Given the description of an element on the screen output the (x, y) to click on. 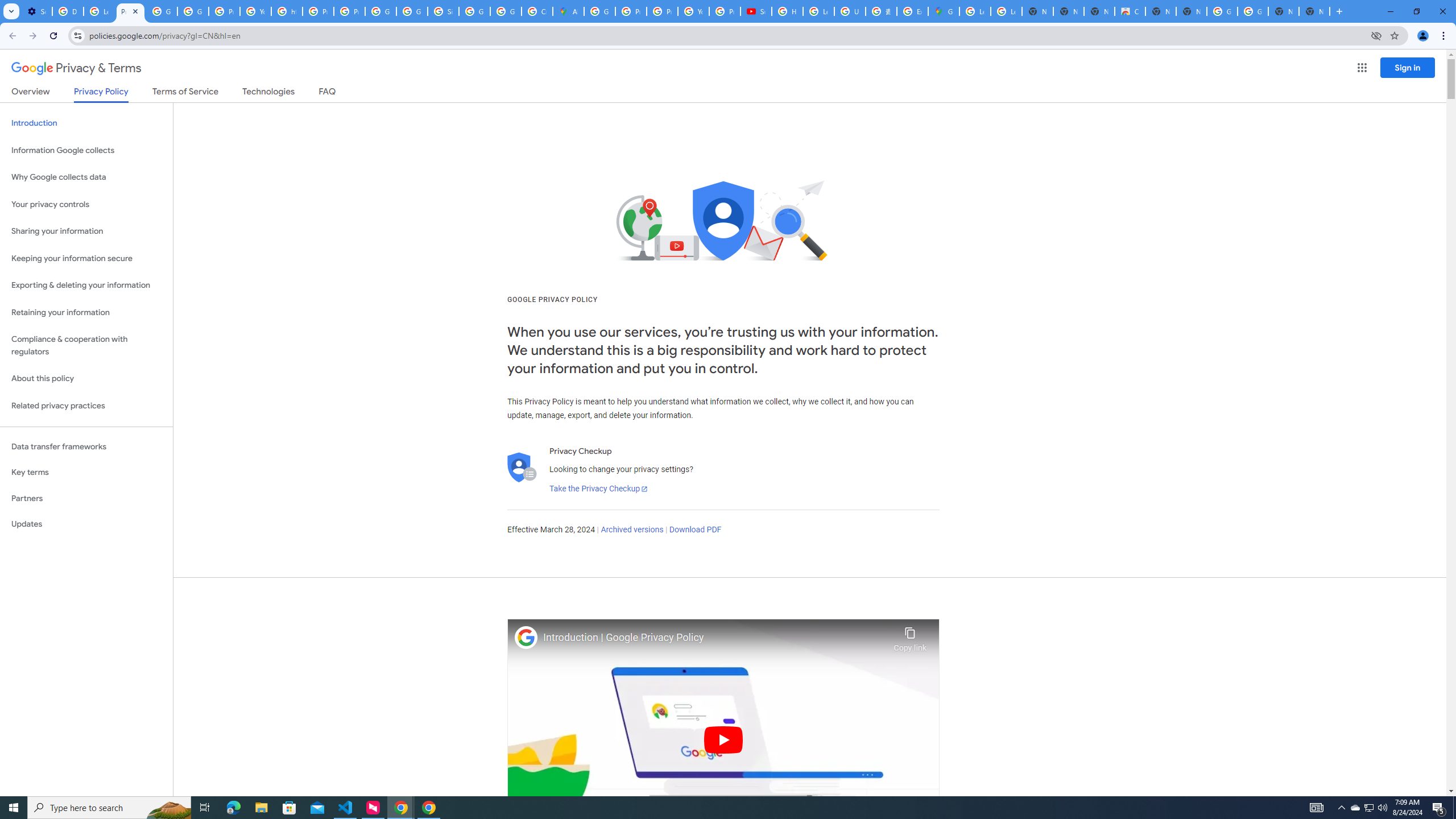
New Tab (1314, 11)
Take the Privacy Checkup (597, 488)
Introduction | Google Privacy Policy (715, 637)
Privacy Help Center - Policies Help (631, 11)
